Given the description of an element on the screen output the (x, y) to click on. 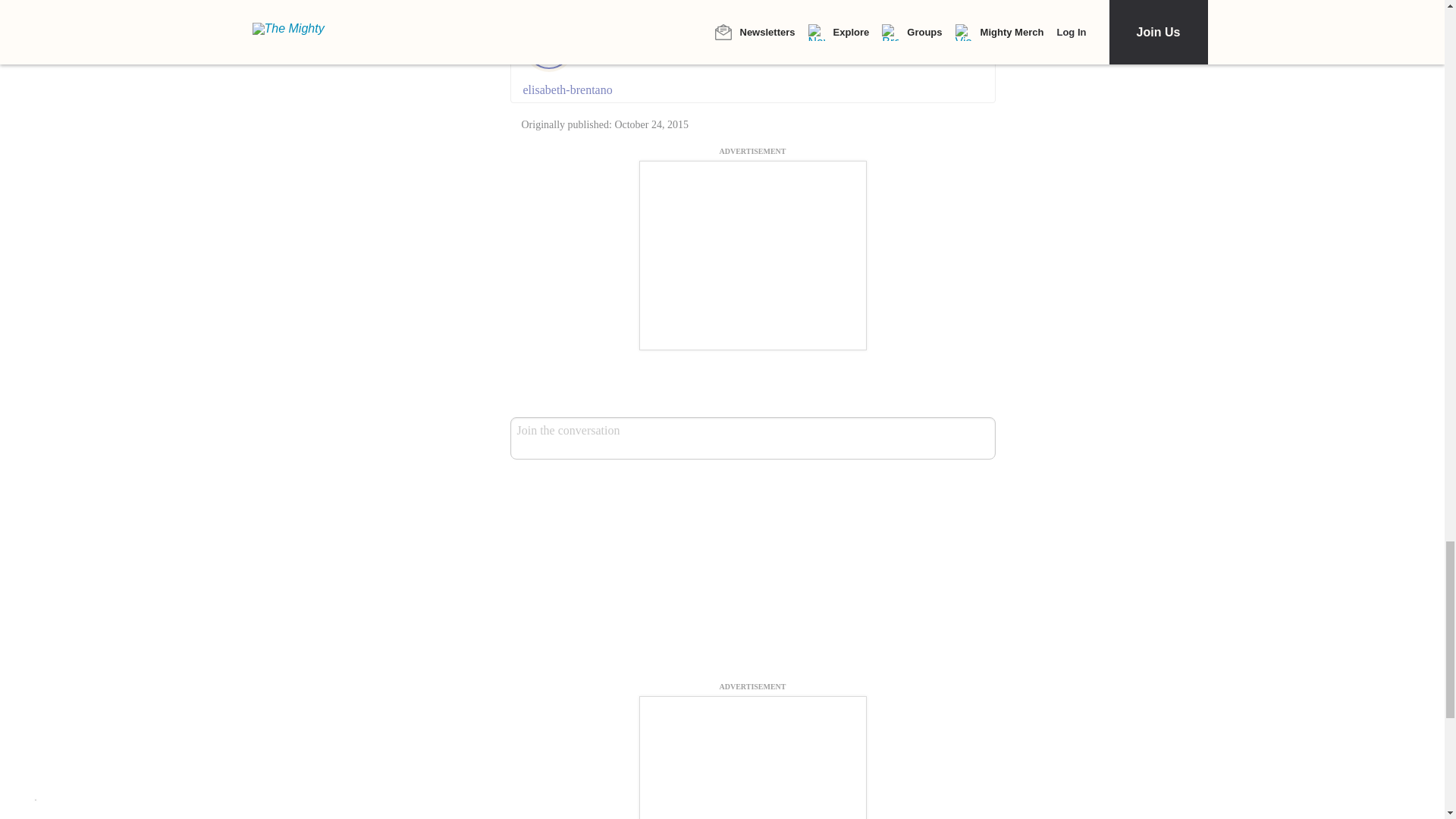
Follow (703, 45)
Elisabeth Brentano (628, 44)
elisabeth-brentano (752, 90)
